Given the description of an element on the screen output the (x, y) to click on. 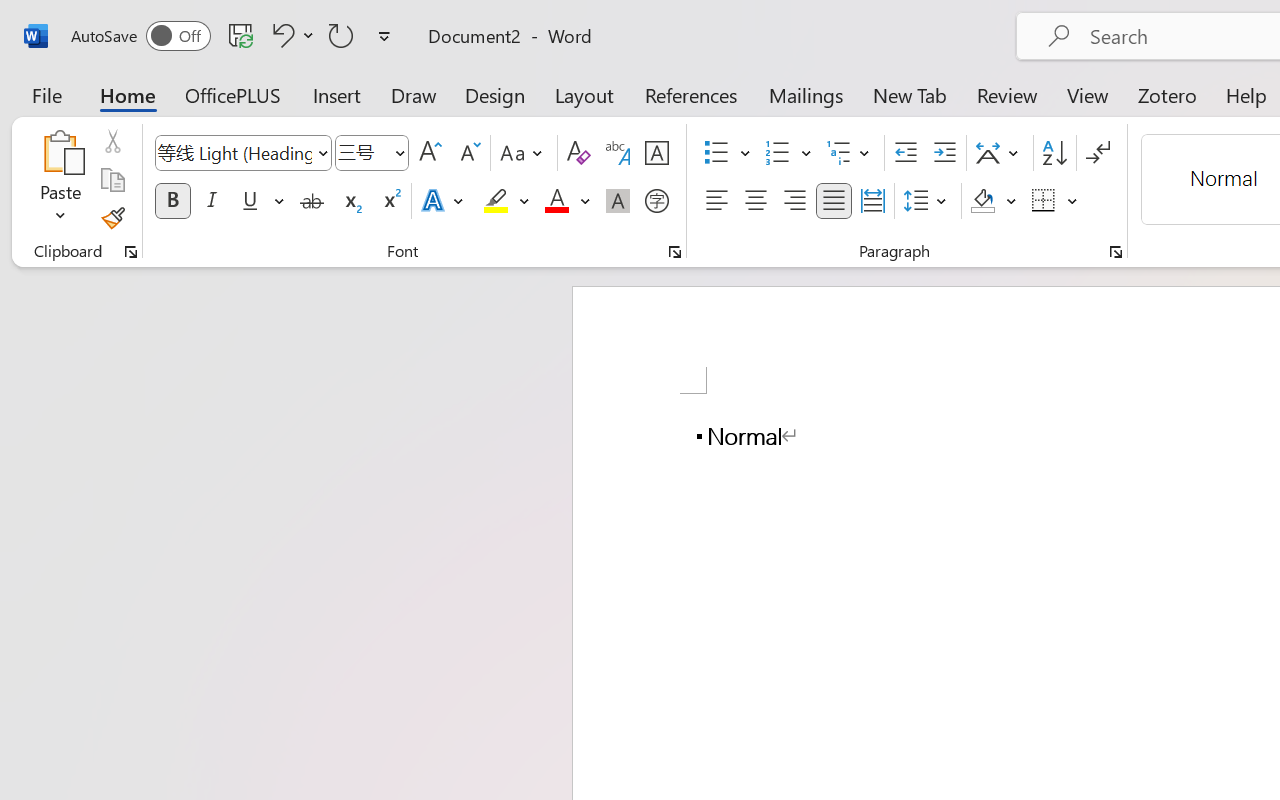
Numbering (788, 153)
Review (1007, 94)
